Given the description of an element on the screen output the (x, y) to click on. 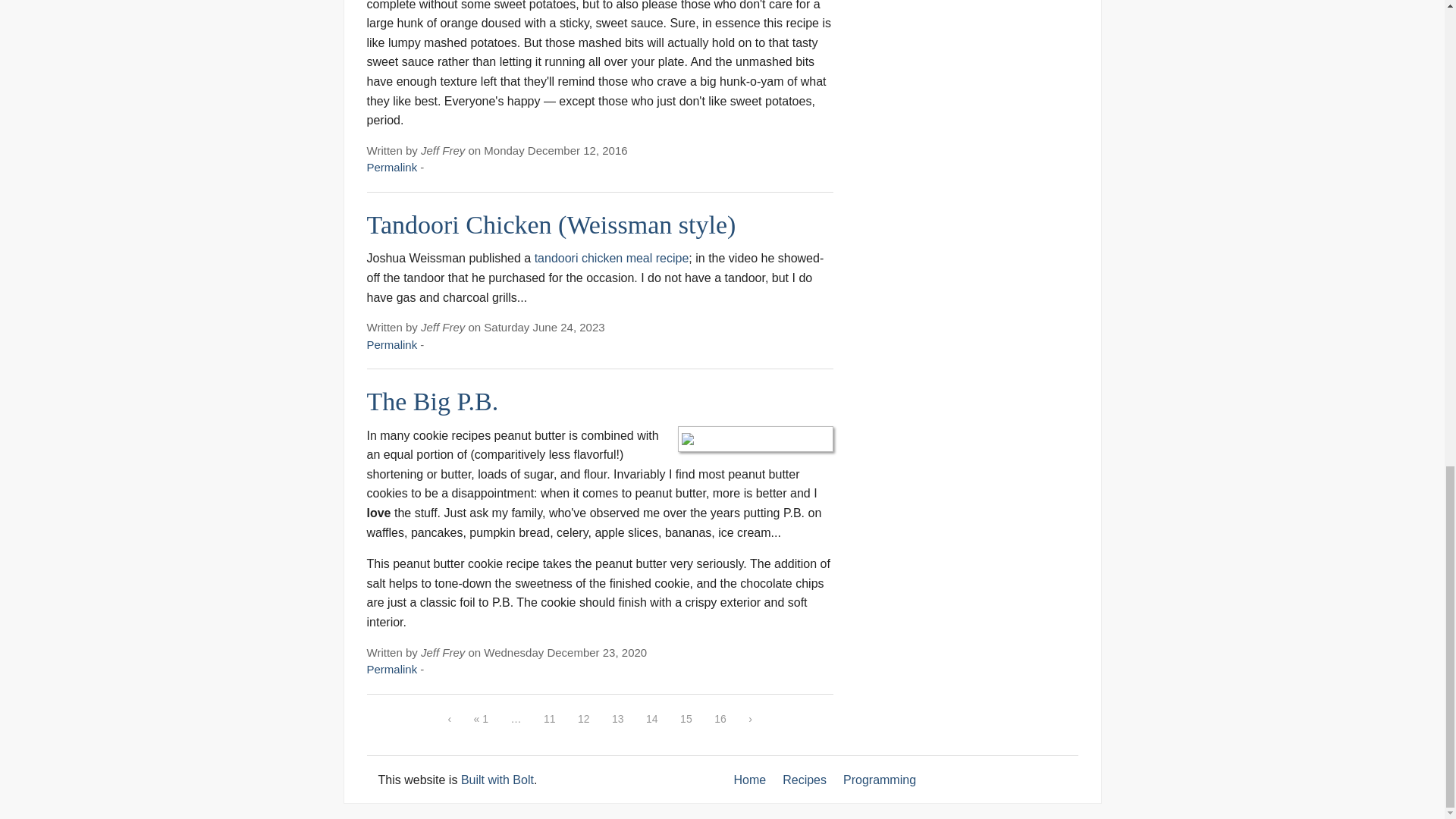
11 (549, 719)
15 (686, 719)
13 (617, 719)
12 (583, 719)
14 (652, 719)
Permalink (391, 344)
tandoori chicken meal recipe (611, 257)
Permalink (391, 668)
The Big P.B. (432, 401)
Front page (750, 780)
